Given the description of an element on the screen output the (x, y) to click on. 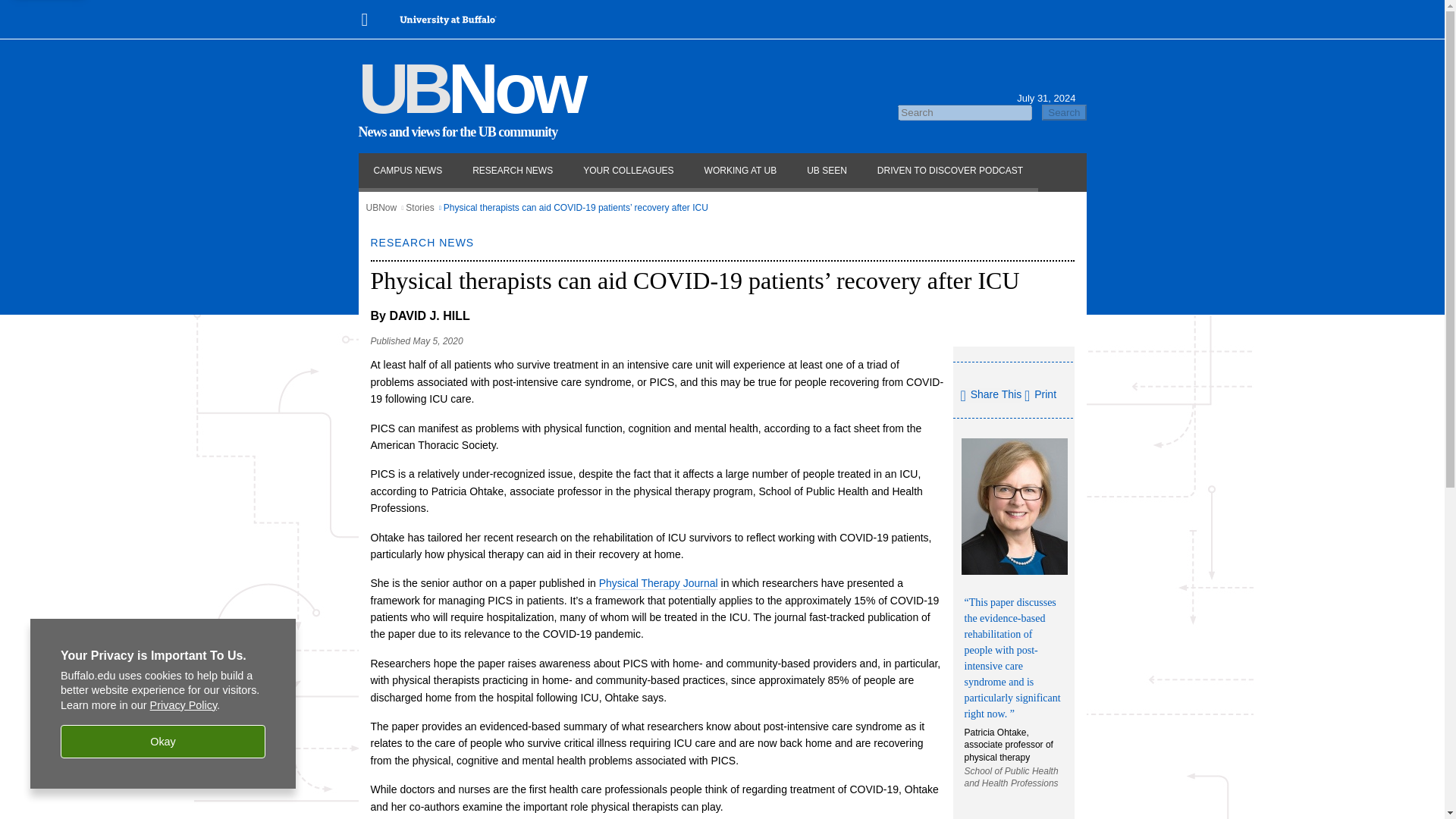
Print (1041, 394)
Privacy Policy (182, 705)
Search (1064, 112)
Stories (419, 207)
Physical Therapy Journal (657, 583)
Okay (162, 741)
Share This (990, 395)
UBNow (380, 207)
YOUR COLLEAGUES (627, 172)
Search (1064, 112)
RESEARCH NEWS (512, 172)
DRIVEN TO DISCOVER PODCAST (949, 172)
UBNow (470, 88)
CAMPUS NEWS (407, 172)
WORKING AT UB (740, 172)
